Given the description of an element on the screen output the (x, y) to click on. 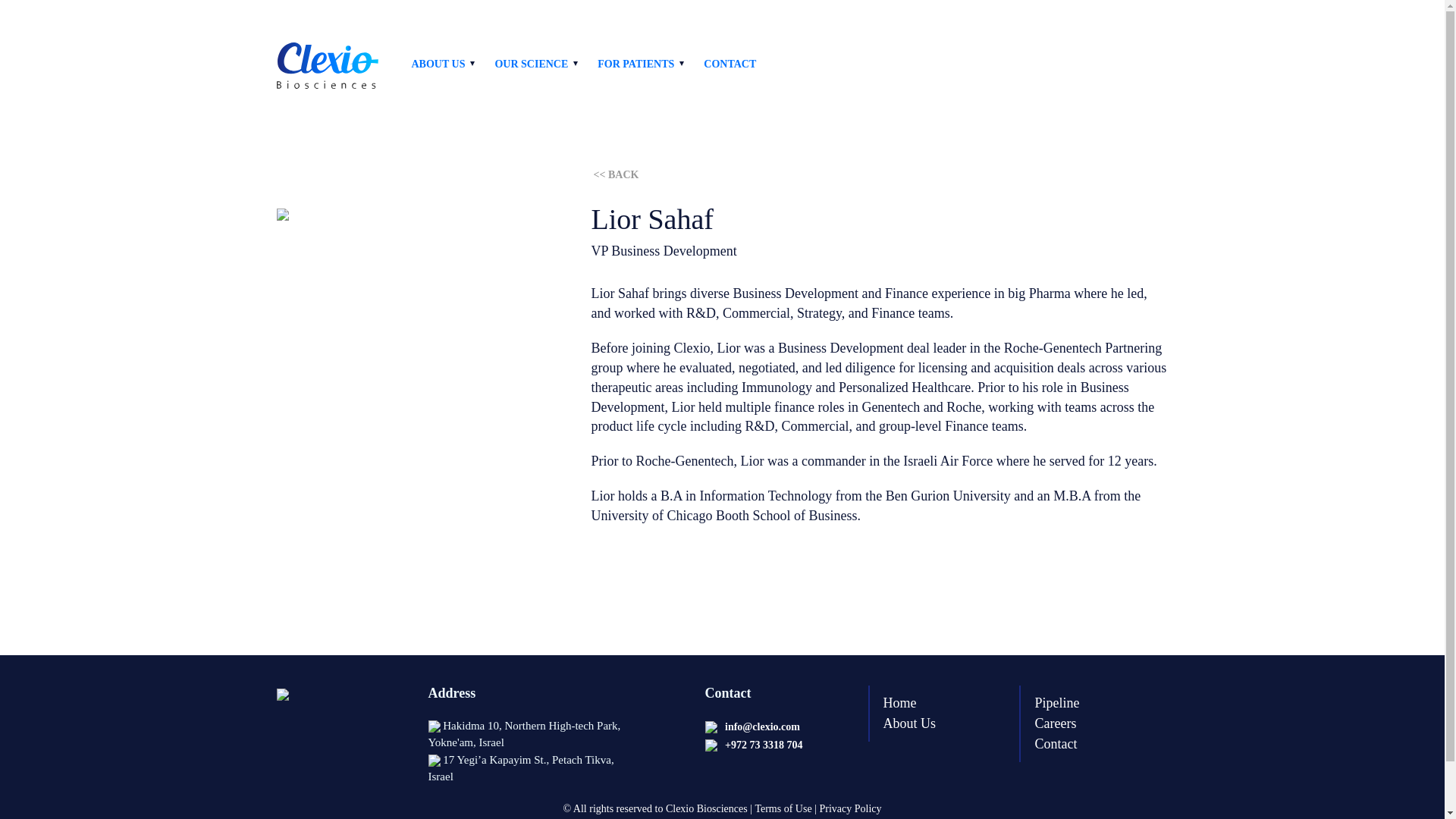
OUR SCIENCE (531, 64)
CONTACT (729, 64)
FOR PATIENTS (635, 64)
ABOUT US (437, 64)
